Given the description of an element on the screen output the (x, y) to click on. 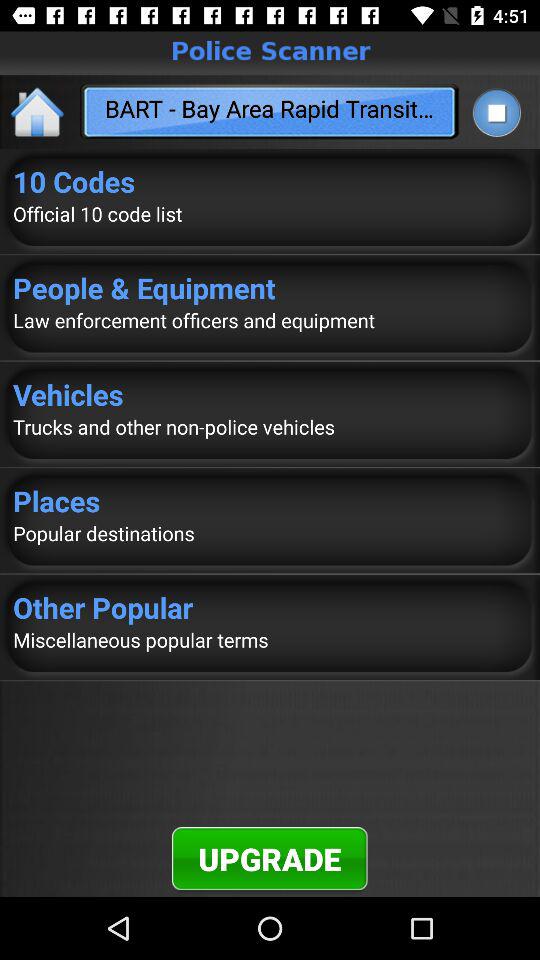
open item next to bart bay area app (496, 111)
